Given the description of an element on the screen output the (x, y) to click on. 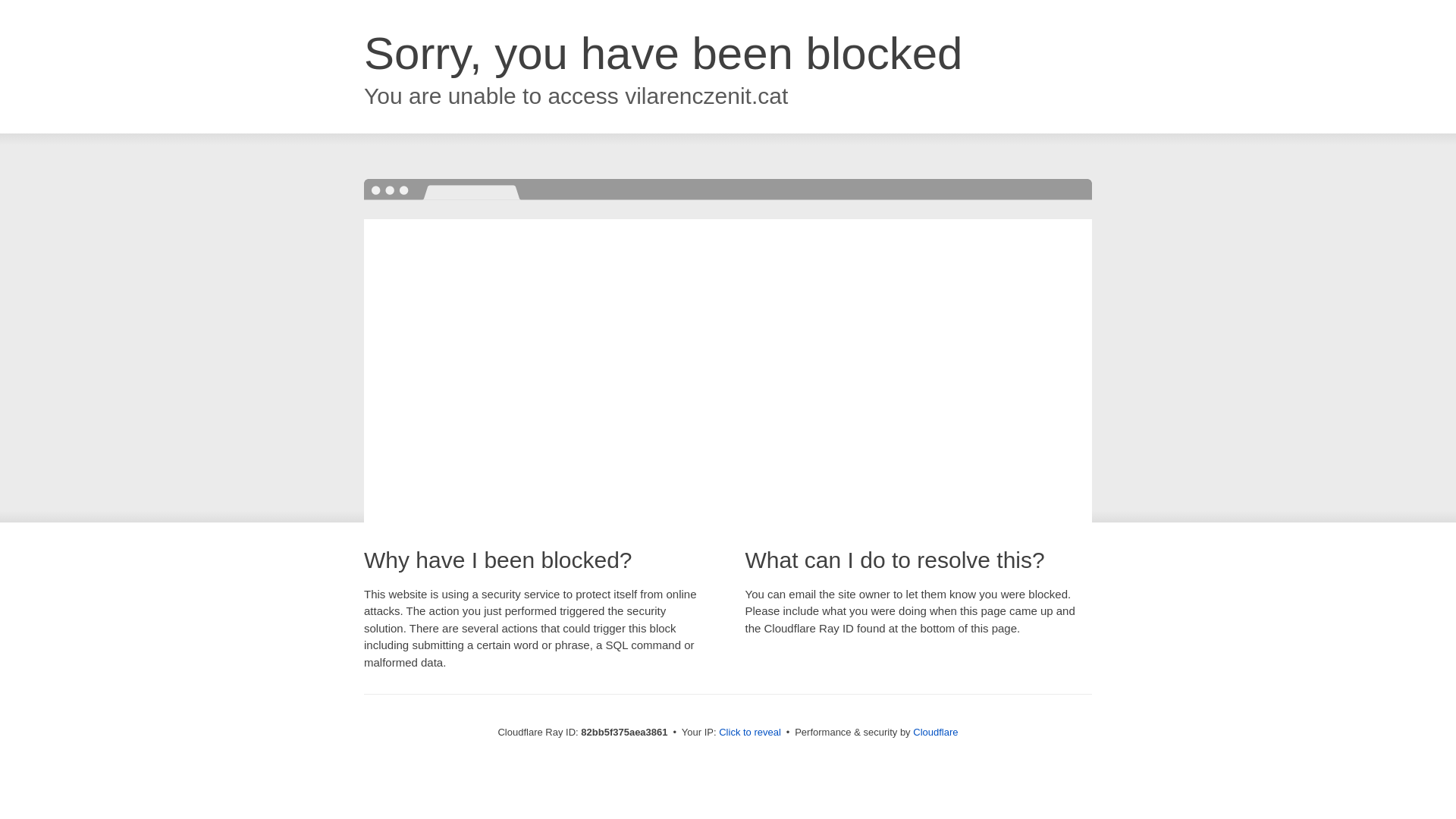
Cloudflare Element type: text (935, 731)
Click to reveal Element type: text (749, 732)
